Given the description of an element on the screen output the (x, y) to click on. 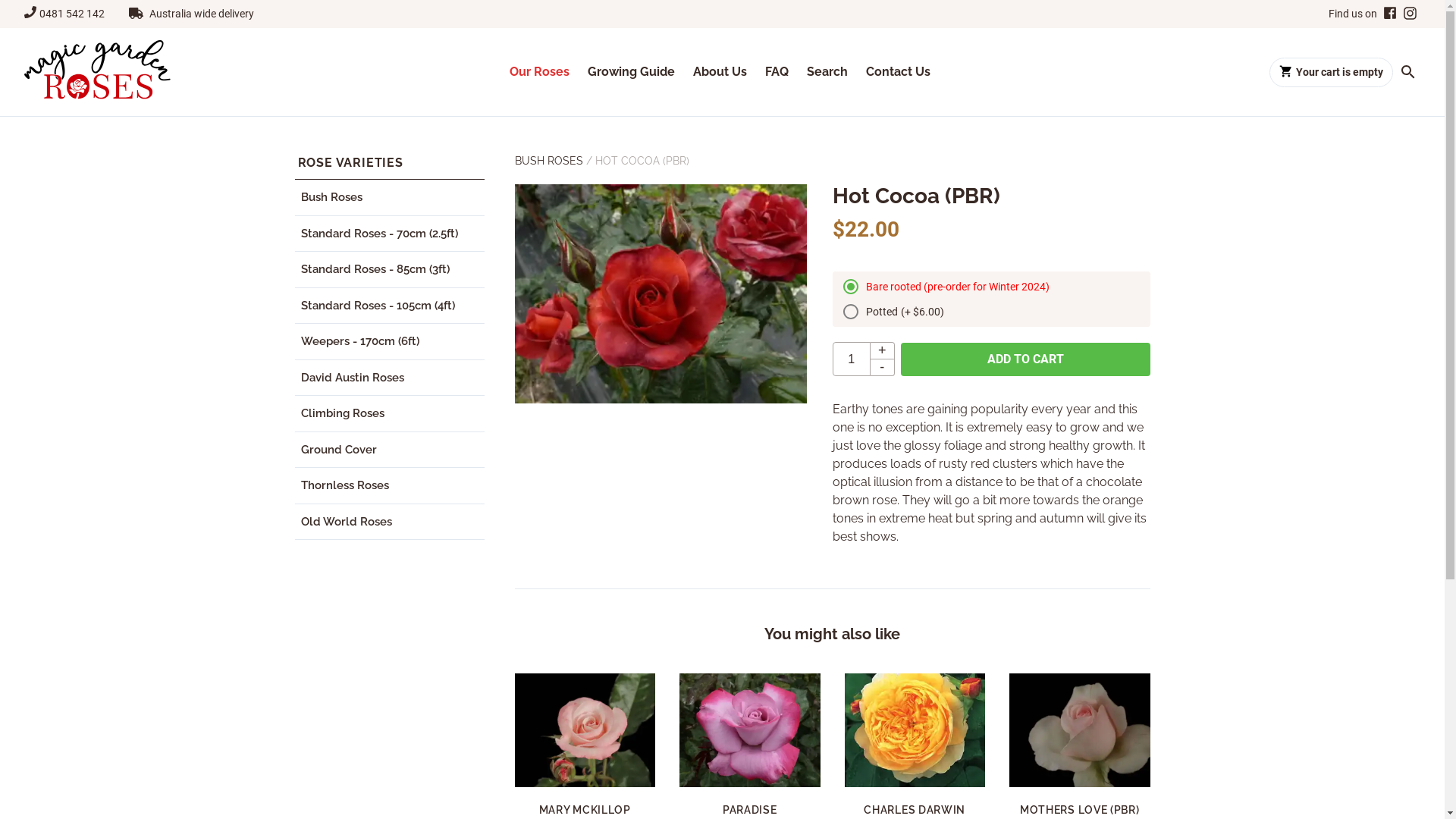
Ground Cover Element type: text (388, 450)
About Us Element type: text (720, 71)
- Element type: text (882, 367)
Growing Guide Element type: text (631, 71)
Contact Us Element type: text (897, 71)
FAQ Element type: text (776, 71)
BUSH ROSES Element type: text (548, 160)
Standard Roses - 85cm (3ft) Element type: text (388, 269)
Standard Roses - 105cm (4ft) Element type: text (388, 306)
Bush Roses Element type: text (388, 197)
Search Element type: text (826, 71)
David Austin Roses Element type: text (388, 377)
ADD TO CART Element type: text (1025, 359)
Climbing Roses Element type: text (388, 413)
Old World Roses Element type: text (388, 521)
Your cart is empty Element type: text (1331, 72)
+ Element type: text (882, 350)
0481 542 142 Element type: text (71, 13)
Australia wide delivery Element type: text (201, 13)
Our Roses Element type: text (539, 71)
Standard Roses - 70cm (2.5ft) Element type: text (388, 233)
Thornless Roses Element type: text (388, 485)
Weepers - 170cm (6ft) Element type: text (388, 341)
